Given the description of an element on the screen output the (x, y) to click on. 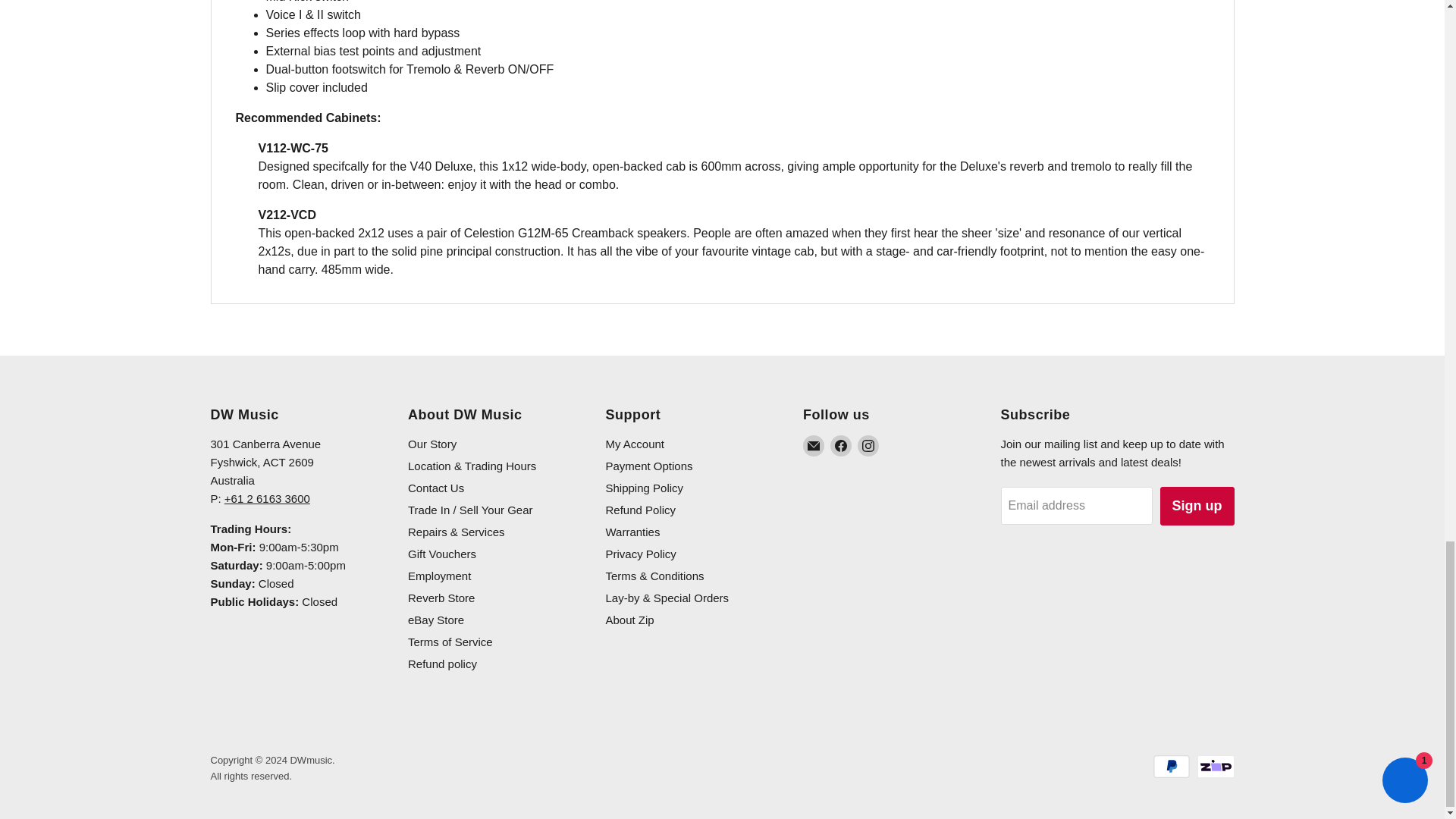
Instagram (868, 445)
Facebook (840, 445)
Email (813, 445)
